Given the description of an element on the screen output the (x, y) to click on. 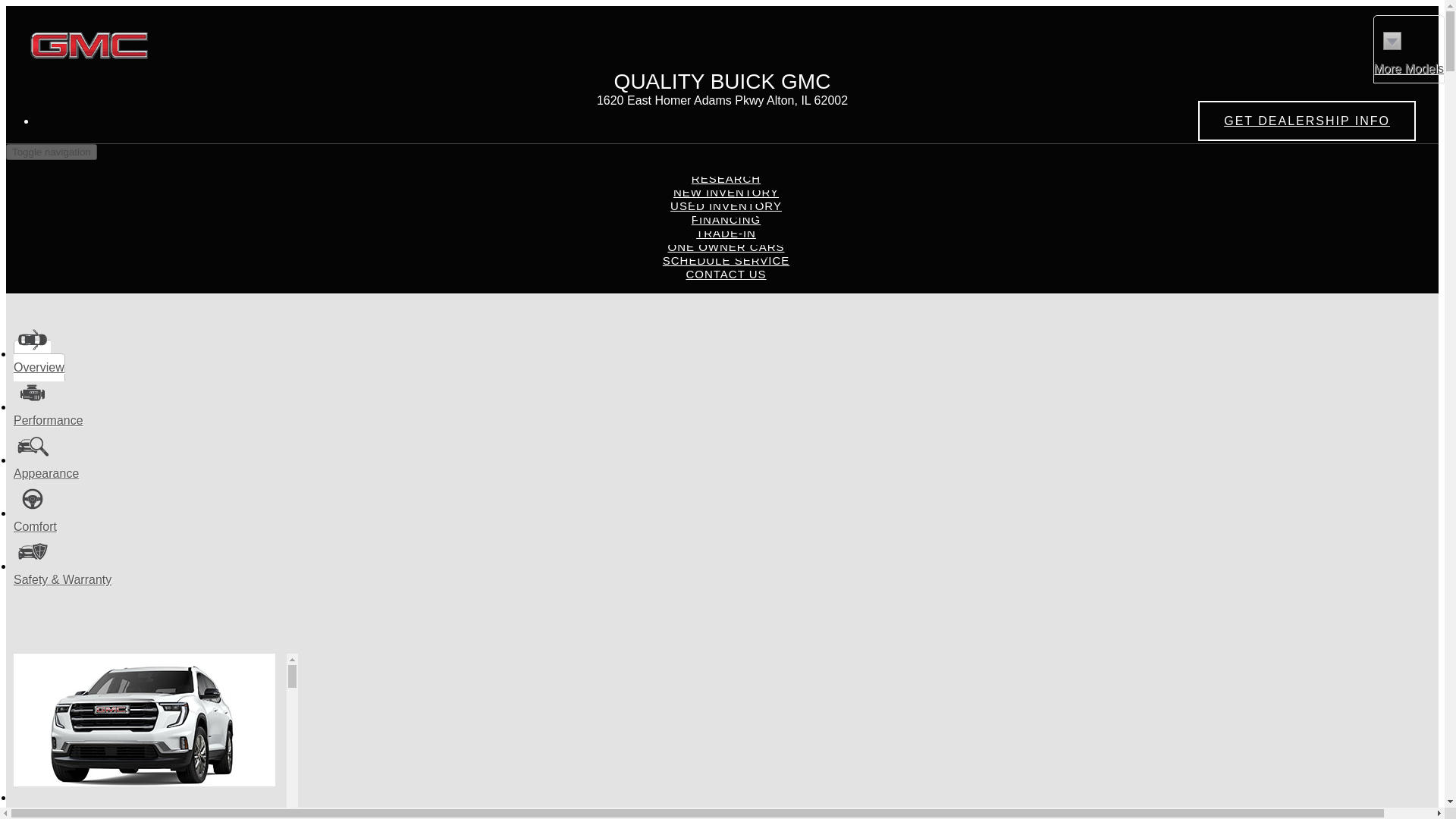
NEW INVENTORY (725, 192)
Appearance (46, 466)
GET DEALERSHIP INFO (1306, 120)
ONE OWNER CARS (725, 246)
More Models (1408, 49)
TRADE-IN (725, 233)
USED INVENTORY (725, 205)
2024 ACADIA (149, 736)
Overview (39, 360)
FINANCING (726, 219)
SCHEDULE SERVICE (725, 260)
Comfort (35, 519)
Performance (48, 413)
Toggle navigation (51, 151)
CONTACT US (725, 274)
